Given the description of an element on the screen output the (x, y) to click on. 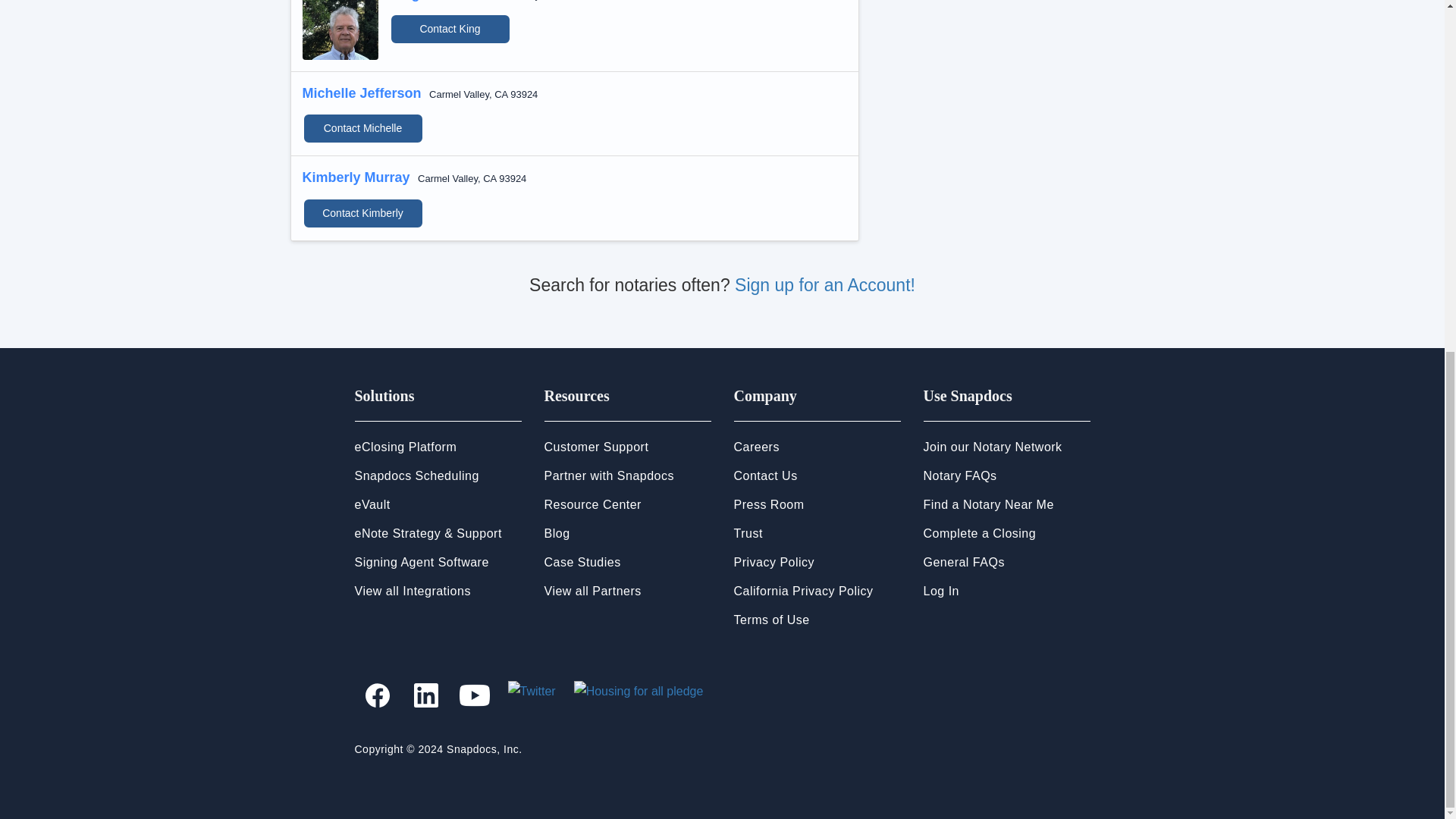
Kimberly Murray (355, 177)
Contact Michelle (362, 128)
Sign up for an Account! (825, 284)
King Lanaux (430, 0)
eVault (372, 504)
eClosing Platform (406, 446)
